Given the description of an element on the screen output the (x, y) to click on. 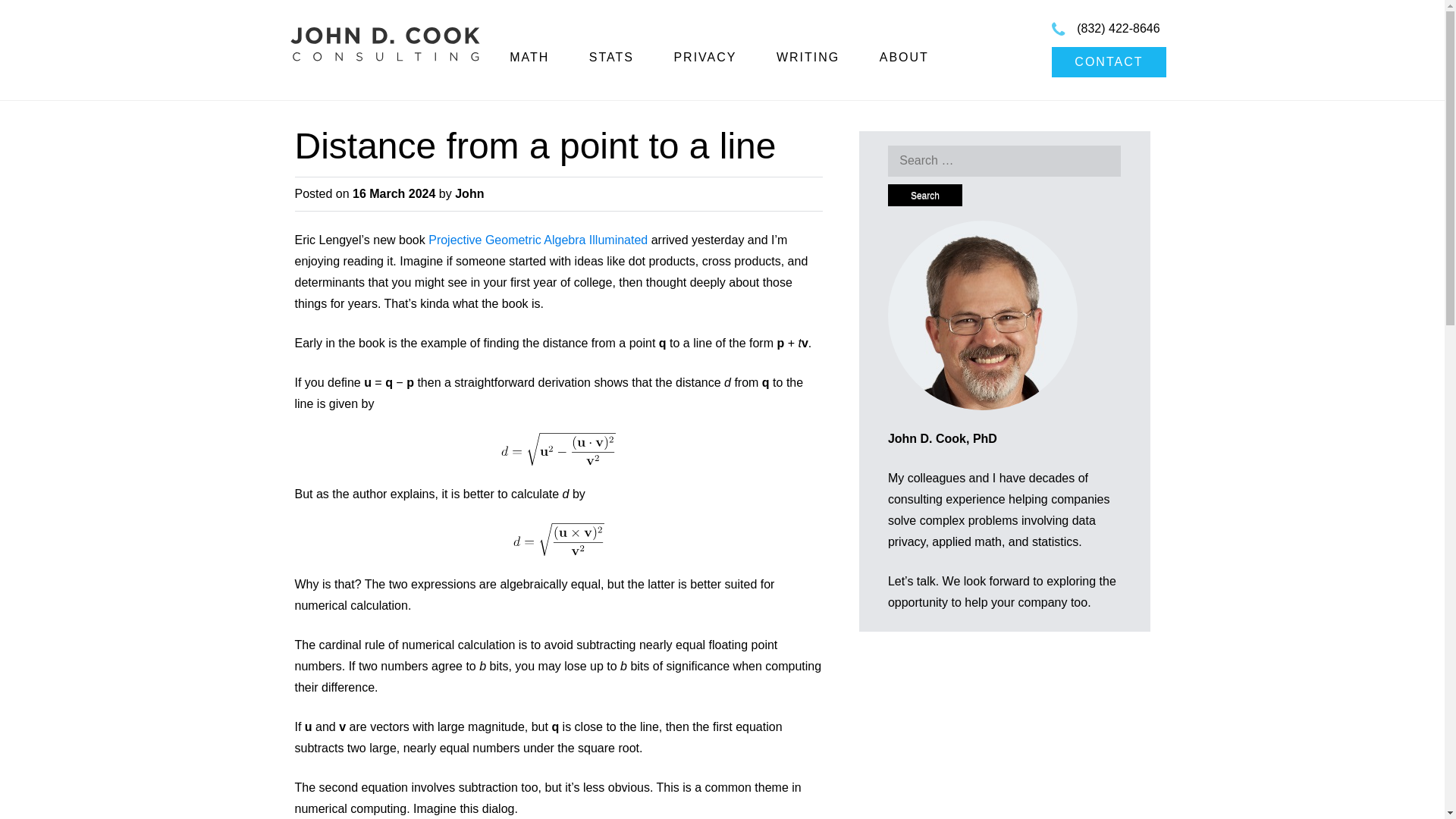
WRITING (807, 57)
MATH (529, 57)
Skip to content (511, 62)
PRIVACY (704, 57)
16 March 2024 (393, 193)
Search for: (1004, 160)
Skip to content (511, 62)
View all posts by John (468, 193)
John (468, 193)
ABOUT (903, 57)
Search (925, 195)
Projective Geometric Algebra Illuminated (537, 239)
CONTACT (1108, 61)
11:17 (393, 193)
STATS (611, 57)
